Given the description of an element on the screen output the (x, y) to click on. 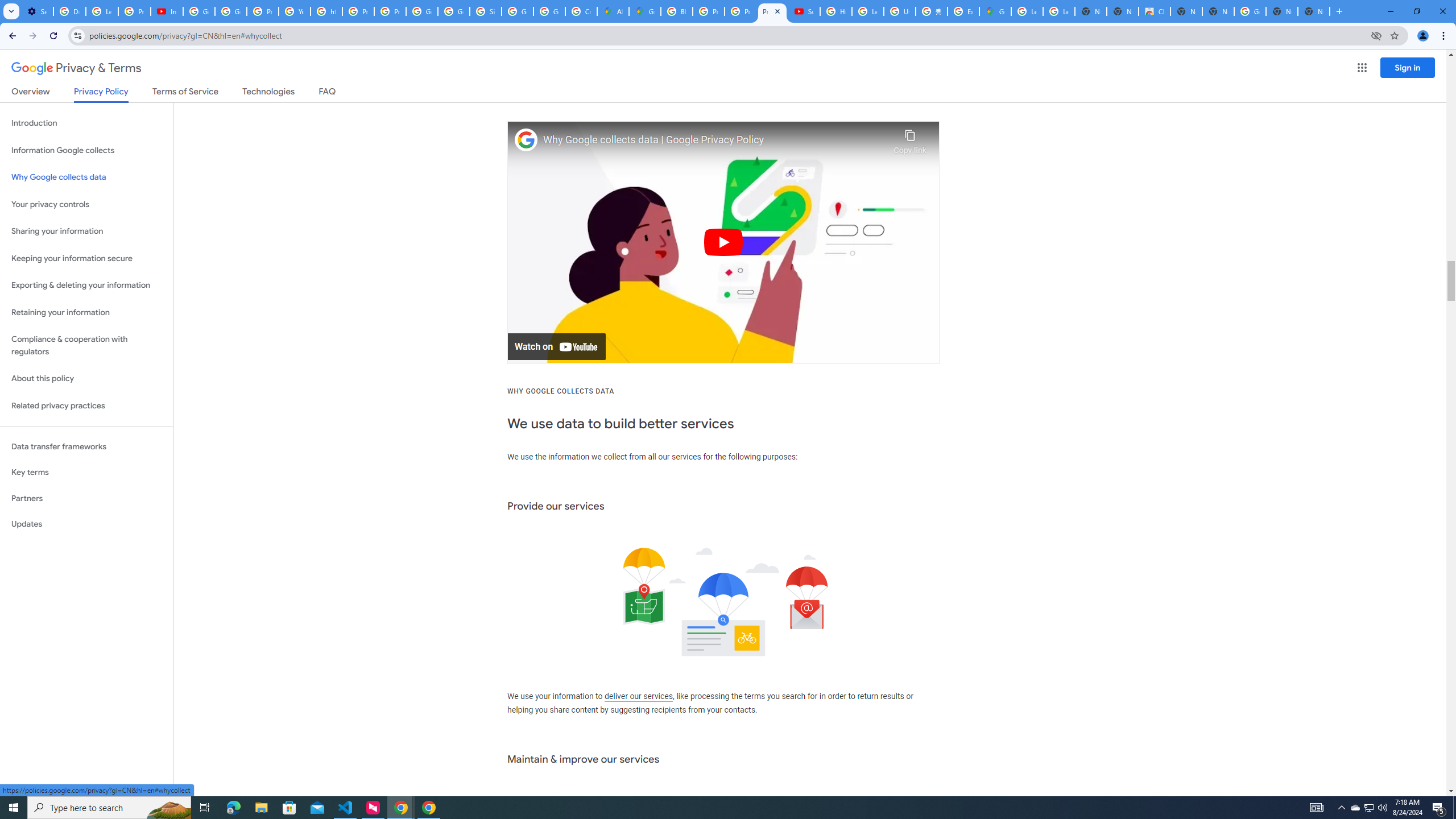
YouTube (294, 11)
Learn how to find your photos - Google Photos Help (101, 11)
Explore new street-level details - Google Maps Help (963, 11)
Related privacy practices (86, 405)
Google Maps (644, 11)
Settings - Customize profile (37, 11)
Exporting & deleting your information (86, 284)
